Given the description of an element on the screen output the (x, y) to click on. 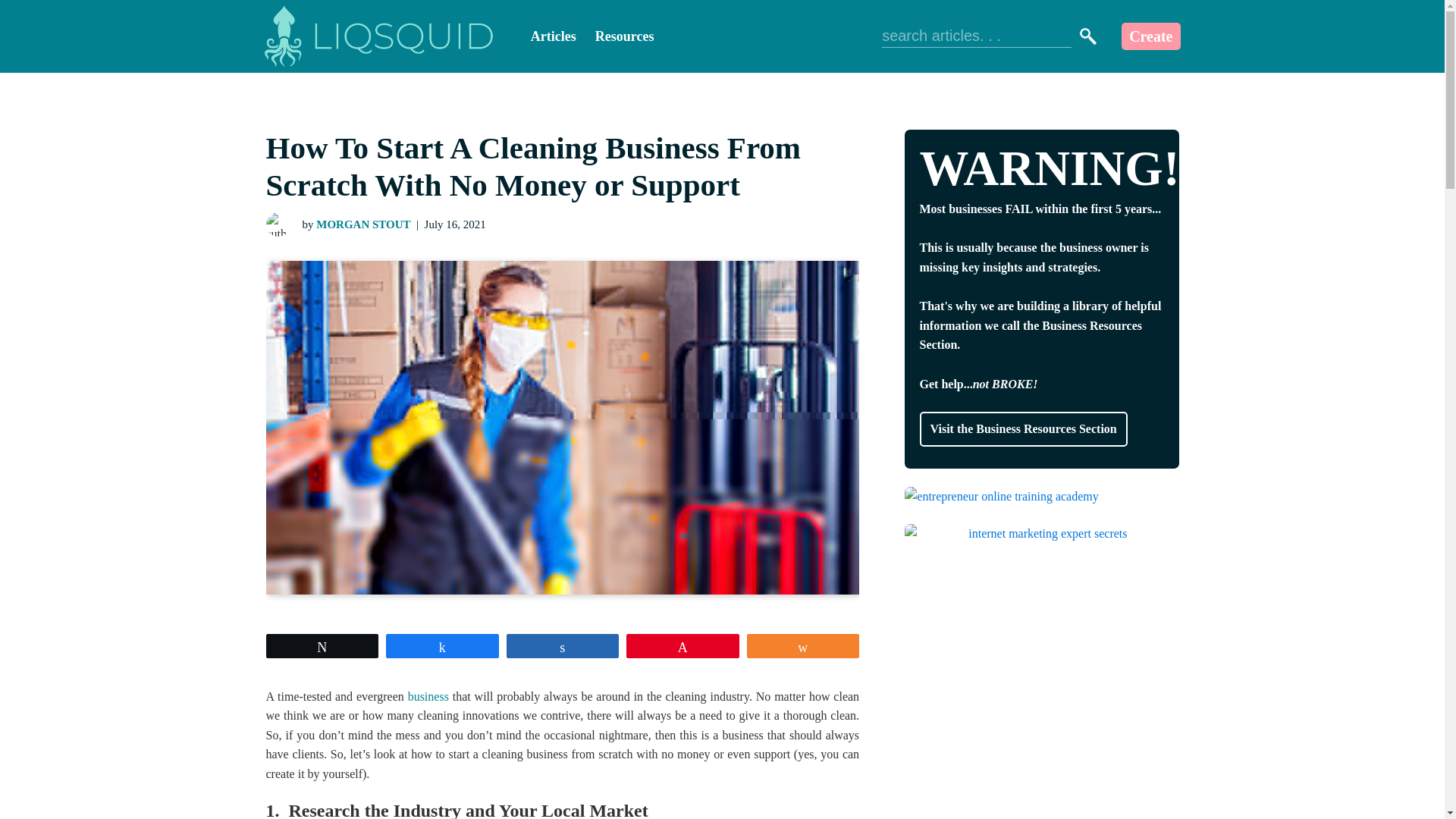
Create (1150, 35)
business (427, 696)
Resources (624, 36)
Articles (553, 36)
Visit the Business Resources Section (1022, 428)
